Given the description of an element on the screen output the (x, y) to click on. 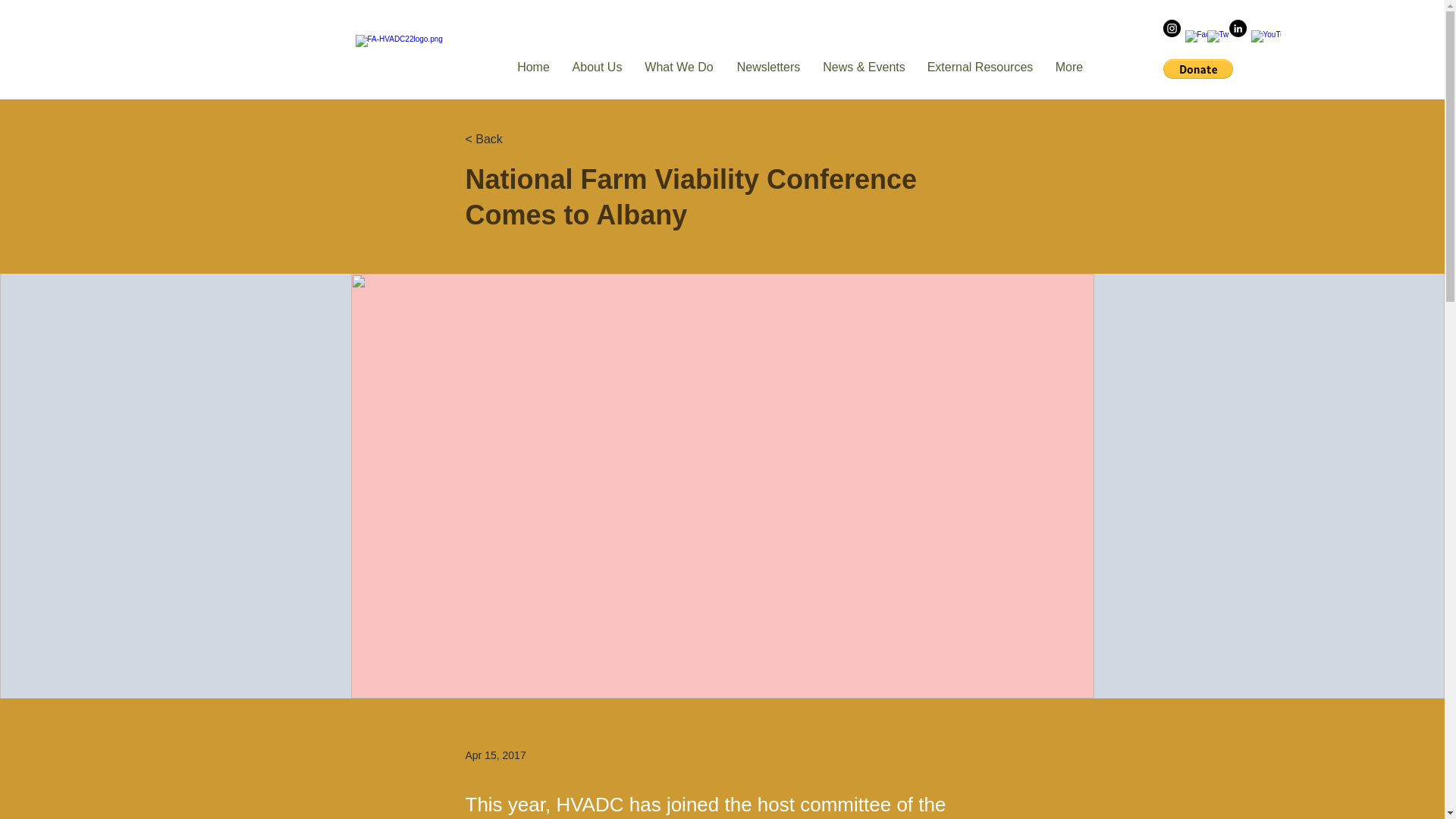
Newsletters (768, 67)
What We Do (679, 67)
External Resources (980, 67)
About Us (596, 67)
Home (533, 67)
